Given the description of an element on the screen output the (x, y) to click on. 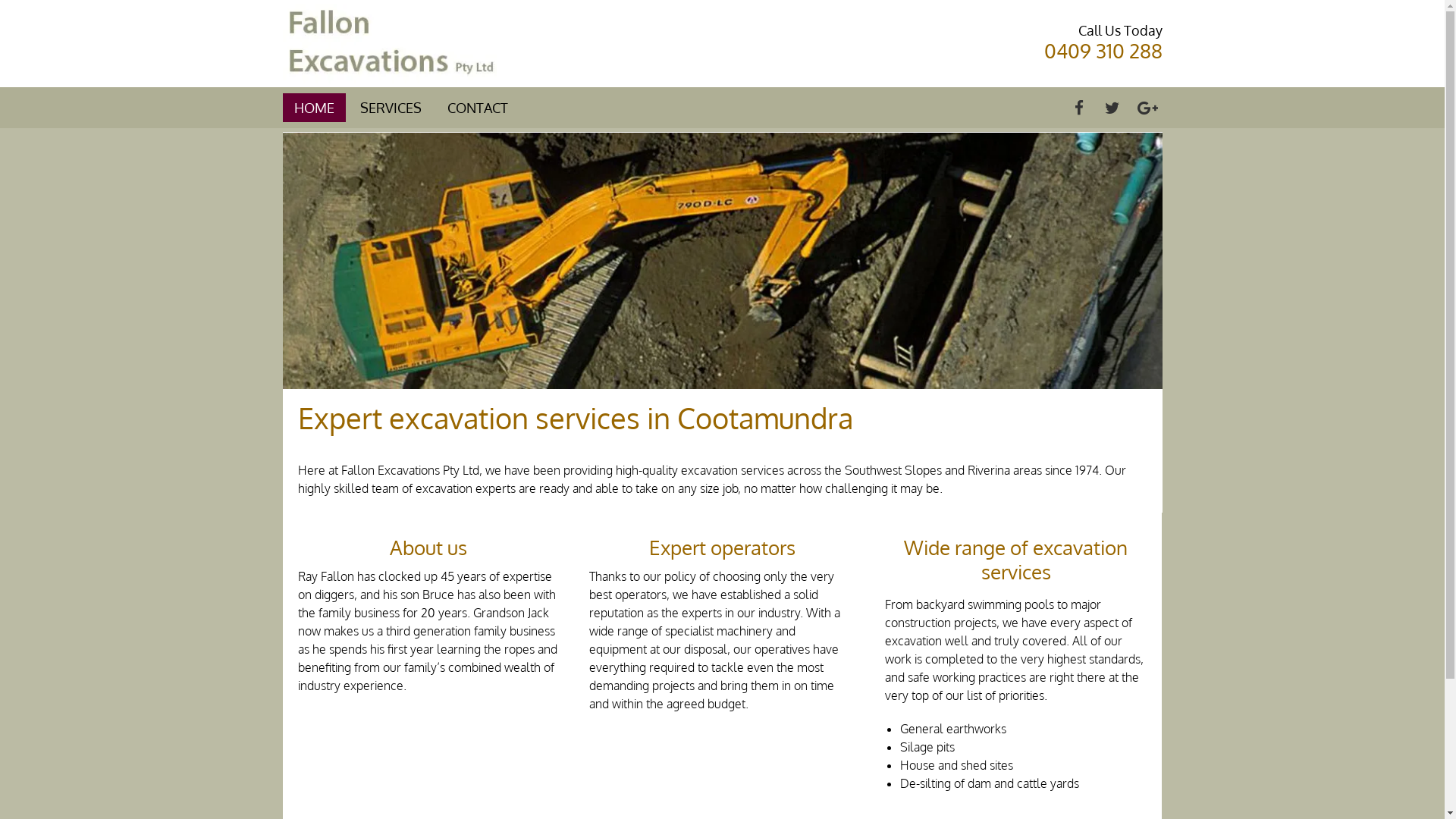
CONTACT Element type: text (477, 107)
SERVICES Element type: text (389, 107)
fallon excavations logo Element type: hover (389, 43)
0409 310 288 Element type: text (1102, 49)
HOME Element type: text (314, 107)
